Given the description of an element on the screen output the (x, y) to click on. 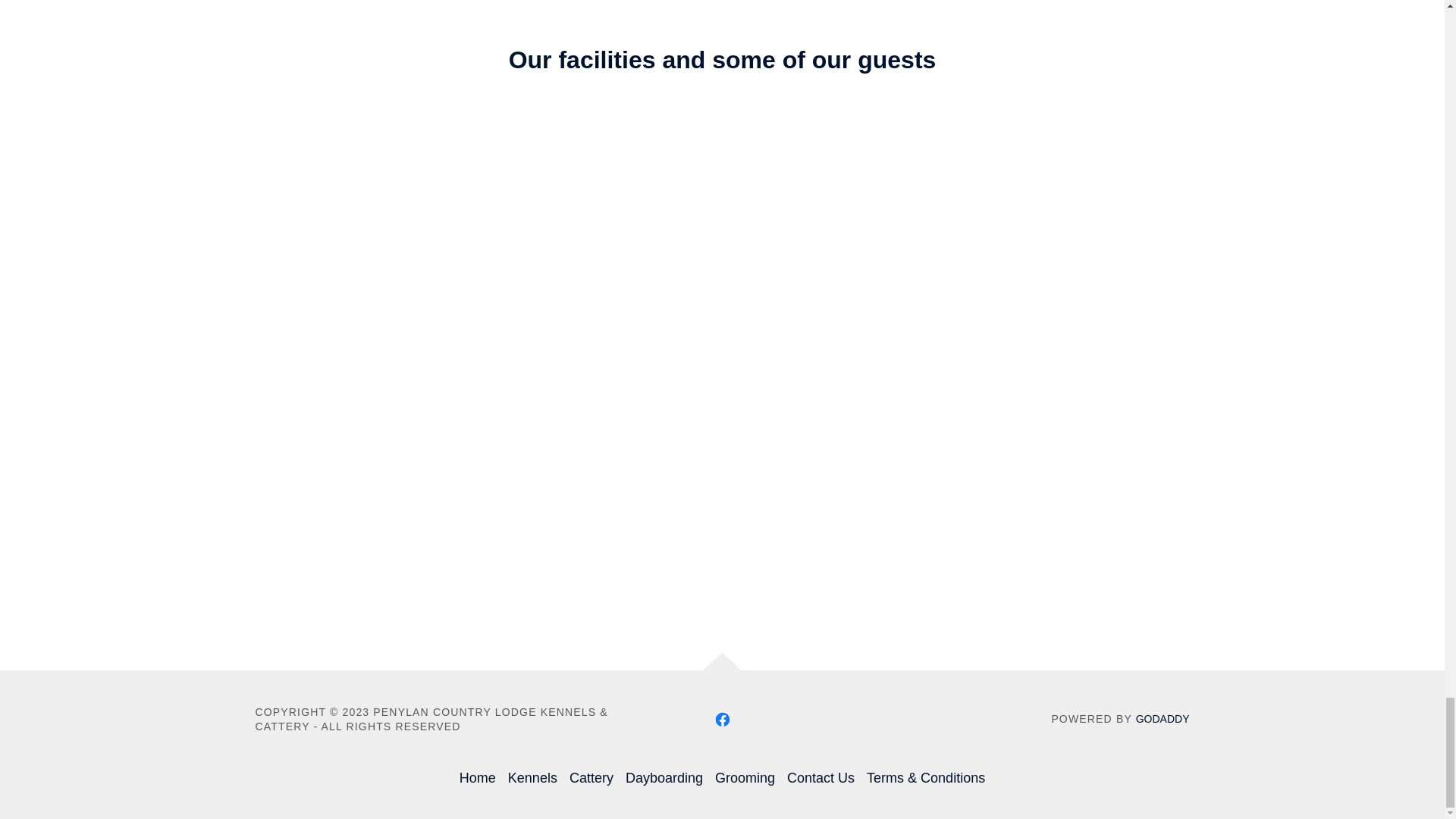
Home (477, 778)
Grooming (744, 778)
Cattery (591, 778)
Kennels (532, 778)
Dayboarding (664, 778)
Contact Us (820, 778)
GODADDY (1162, 718)
